Given the description of an element on the screen output the (x, y) to click on. 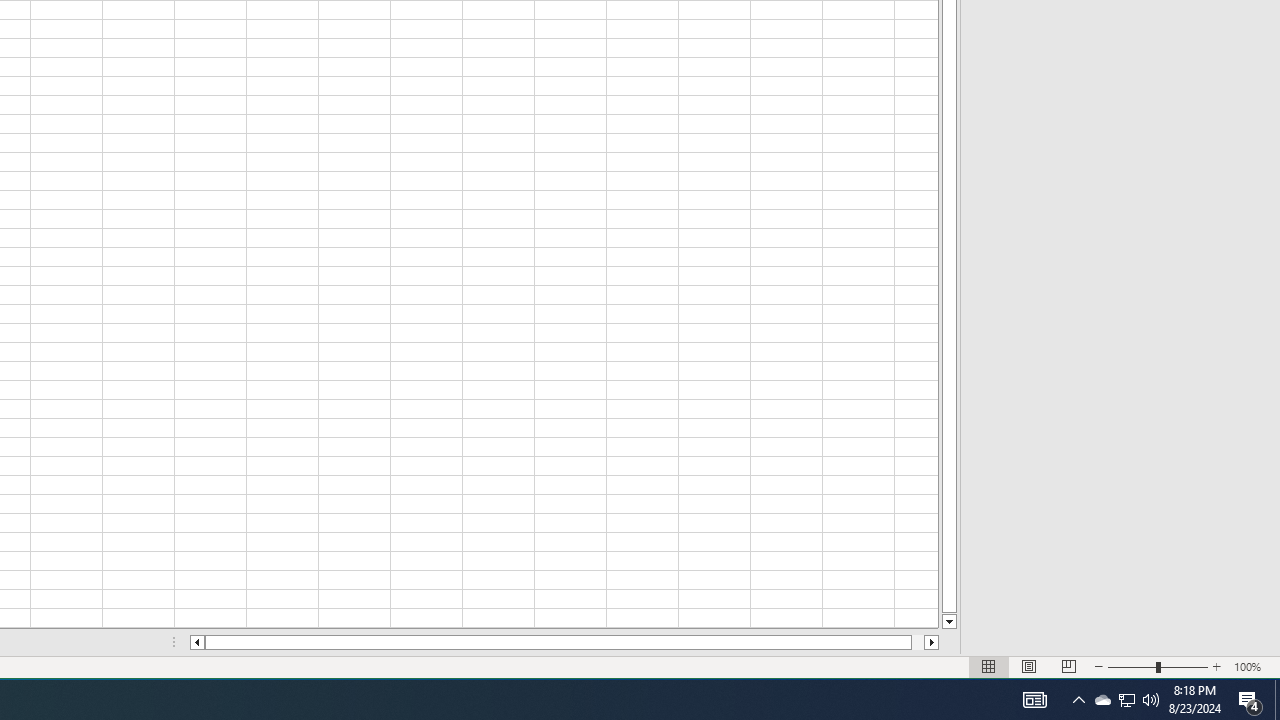
Q2790: 100% (1151, 699)
AutomationID: 4105 (1034, 699)
User Promoted Notification Area (1126, 699)
Show desktop (1277, 699)
